Given the description of an element on the screen output the (x, y) to click on. 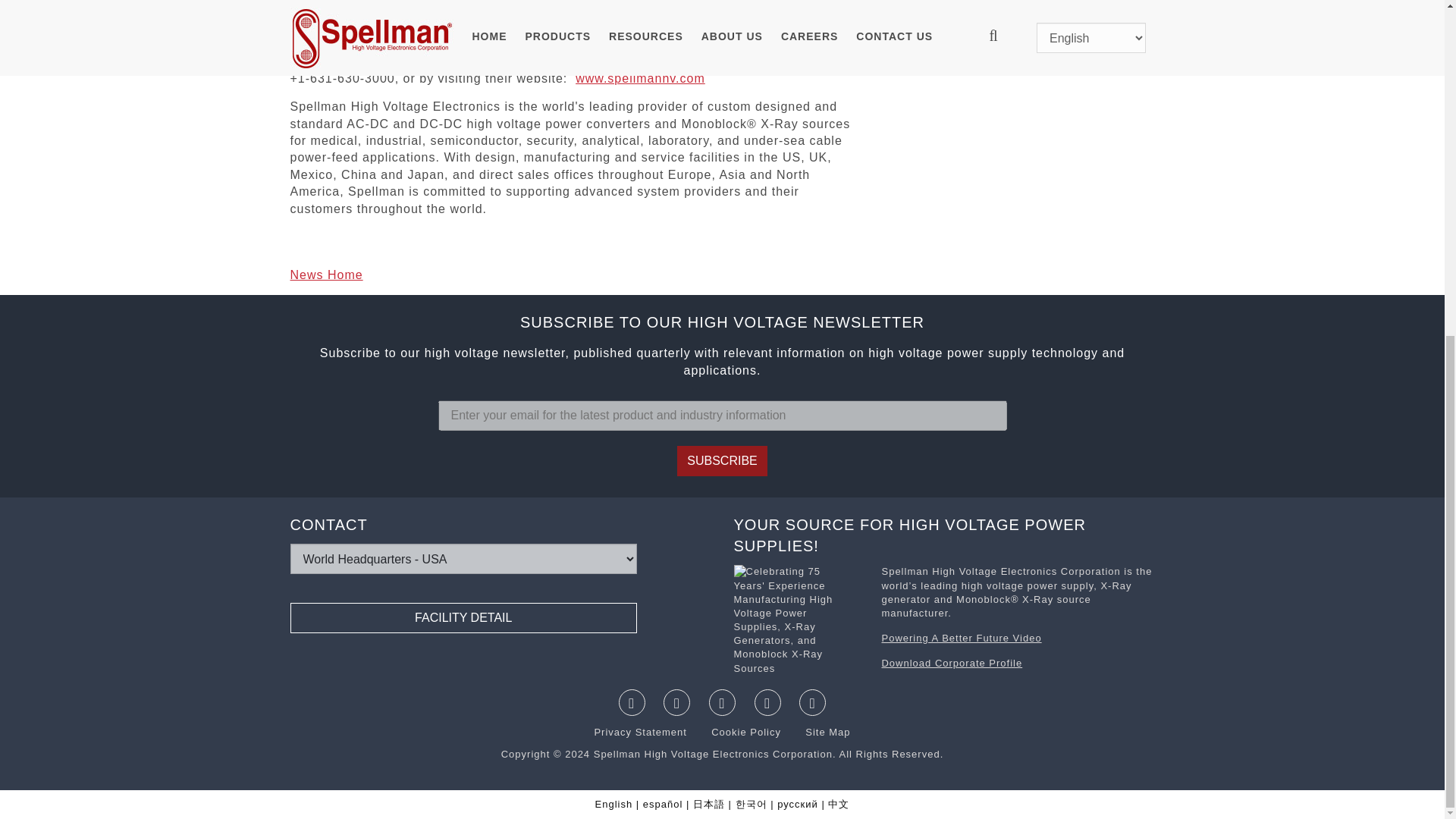
Download Corporate Profile (951, 663)
FACILITY DETAIL (463, 617)
SUBSCRIBE (722, 460)
Download the Corporate Profile (799, 621)
Privacy Statement (642, 731)
www.spellmanhv.com (639, 78)
Powering A Better Future Video (960, 637)
      Cookie Policy (737, 731)
News Home (325, 274)
